Given the description of an element on the screen output the (x, y) to click on. 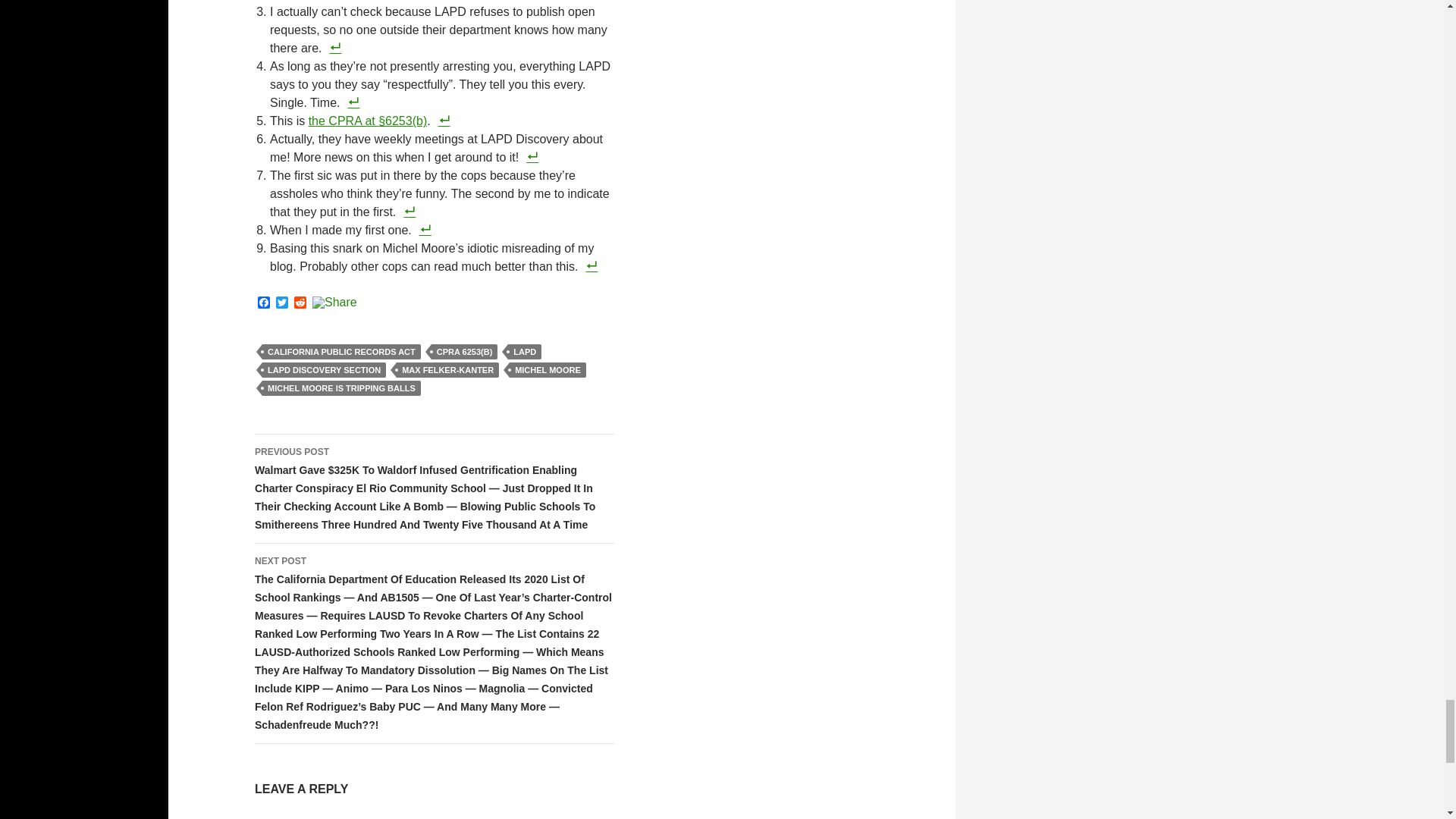
Twitter (282, 303)
Reddit (299, 303)
Facebook (263, 303)
